Given the description of an element on the screen output the (x, y) to click on. 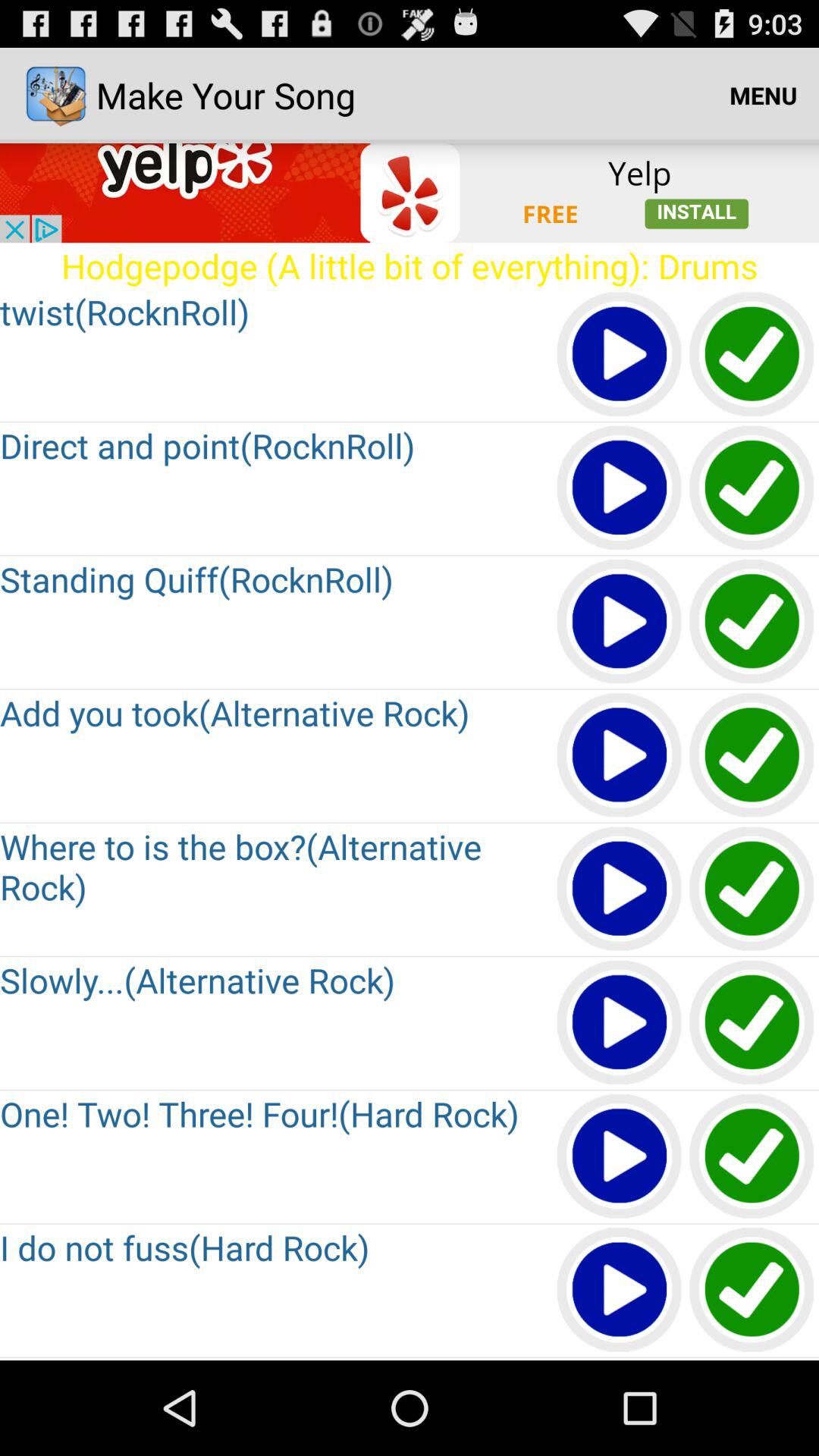
choose track (752, 354)
